Given the description of an element on the screen output the (x, y) to click on. 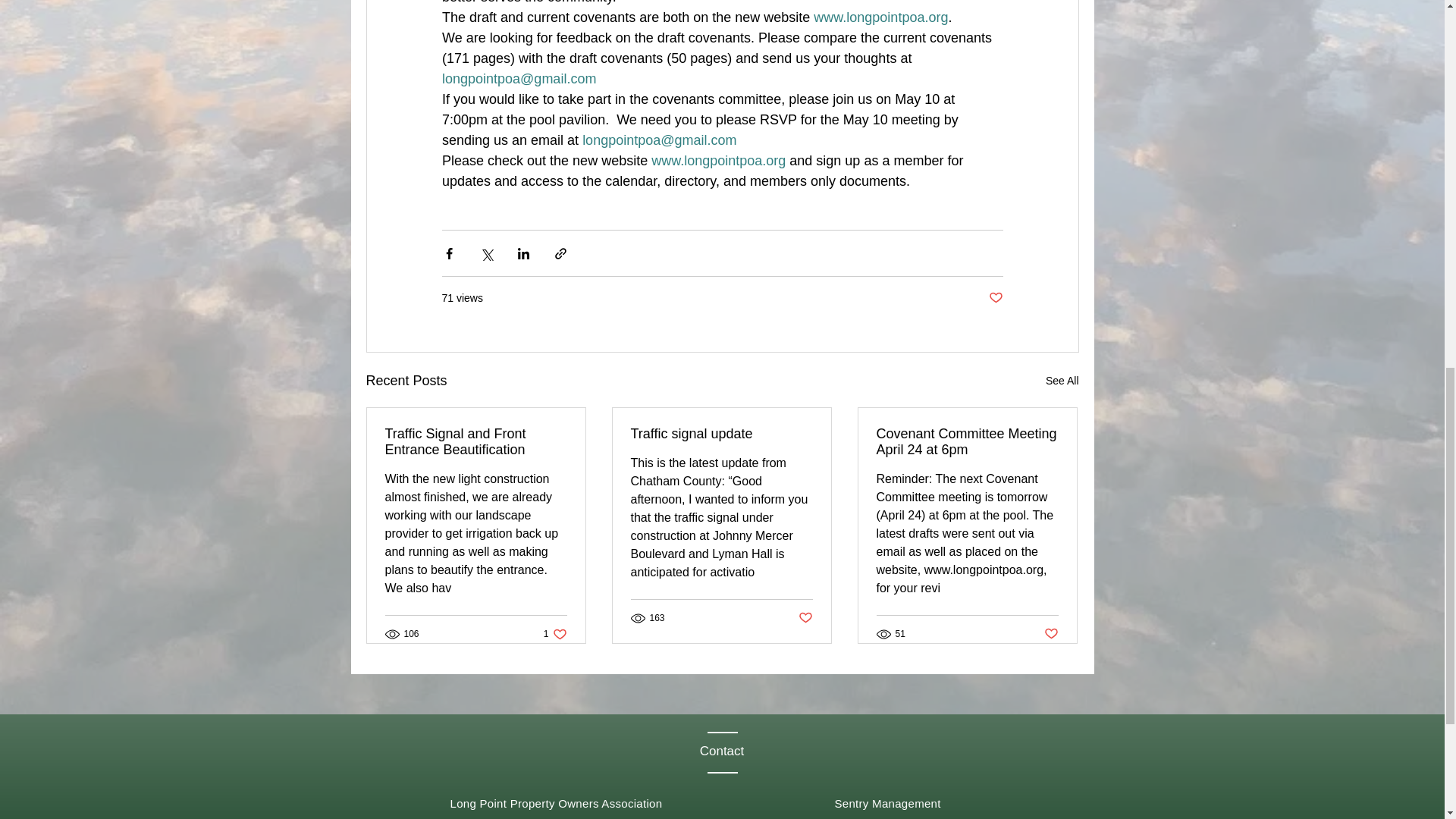
Post not marked as liked (995, 298)
Traffic signal update (721, 433)
Traffic Signal and Front Entrance Beautification (476, 441)
www.longpointpoa.org (880, 17)
Post not marked as liked (1050, 634)
See All (1061, 381)
www.longpointpoa.org (718, 160)
Covenant Committee Meeting April 24 at 6pm (555, 633)
Post not marked as liked (967, 441)
